Given the description of an element on the screen output the (x, y) to click on. 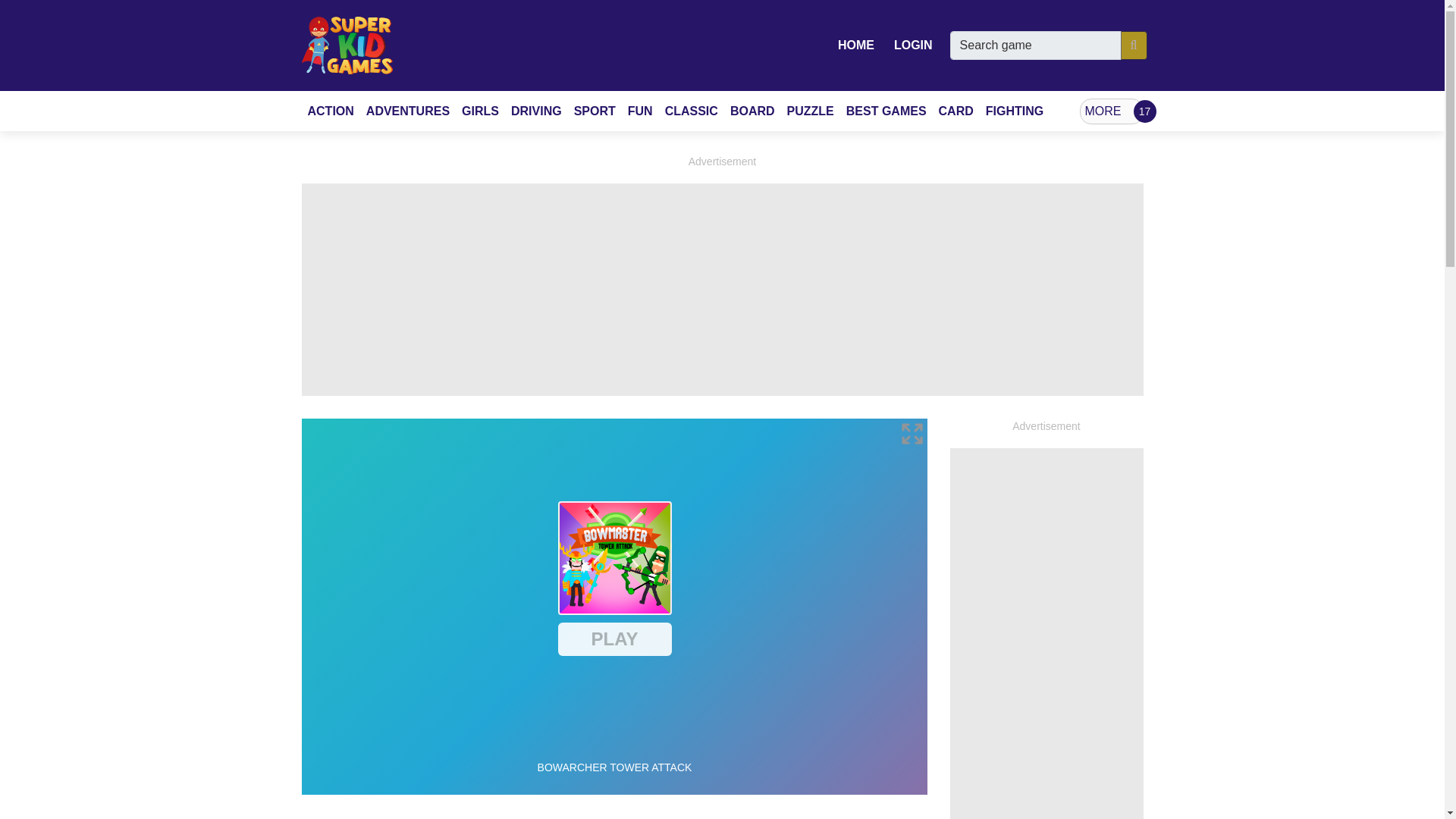
PUZZLE (810, 111)
GIRLS (480, 111)
DRIVING (536, 111)
CLASSIC (691, 111)
SPORT (594, 111)
ACTION (330, 111)
FIGHTING (1014, 111)
ADVENTURES (407, 111)
HOME (855, 44)
Advertisement (614, 806)
FUN (640, 111)
MORE (1111, 111)
Advertisement (1045, 633)
BEST GAMES (886, 111)
